Given the description of an element on the screen output the (x, y) to click on. 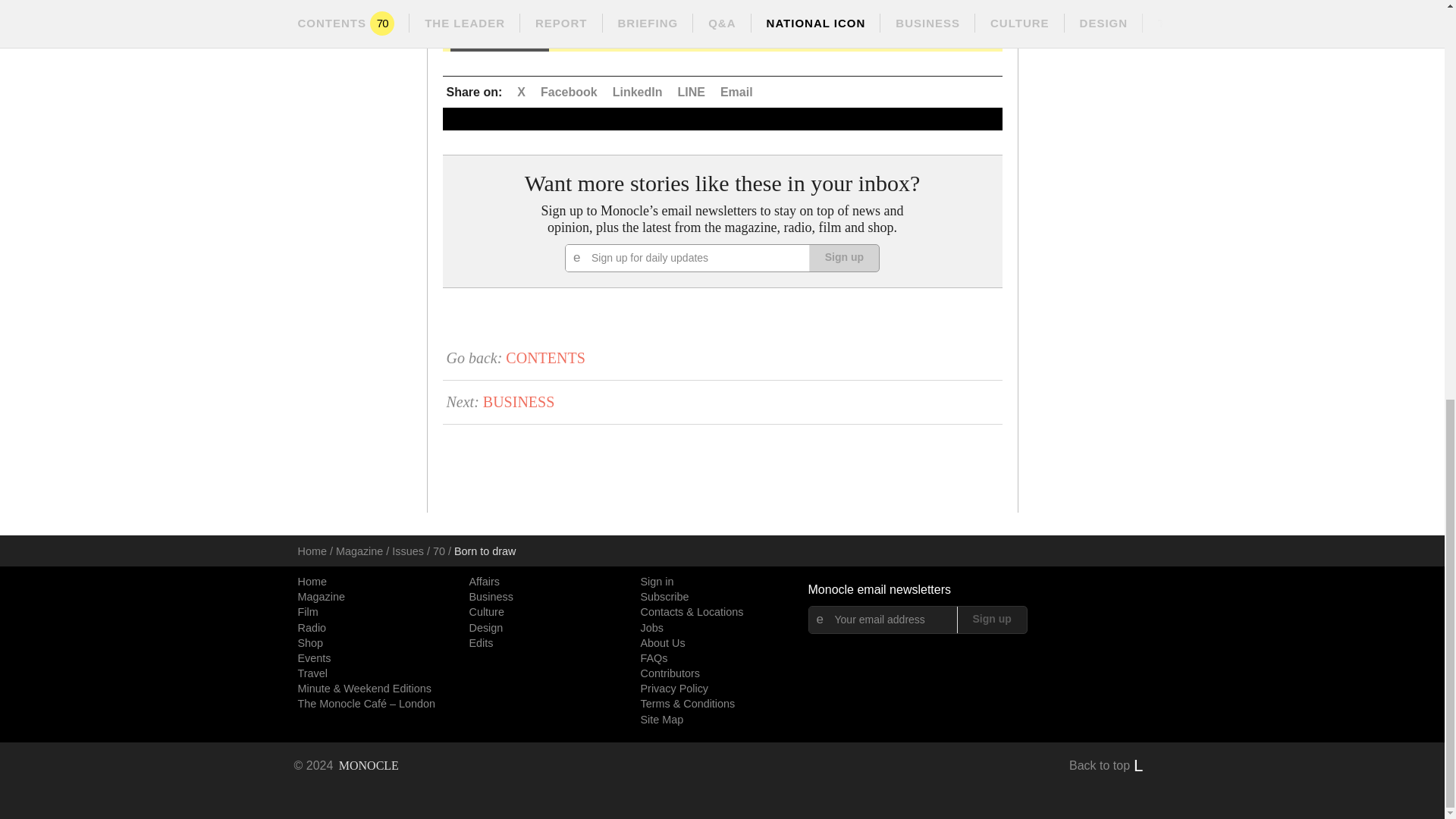
Go to home (346, 765)
